Given the description of an element on the screen output the (x, y) to click on. 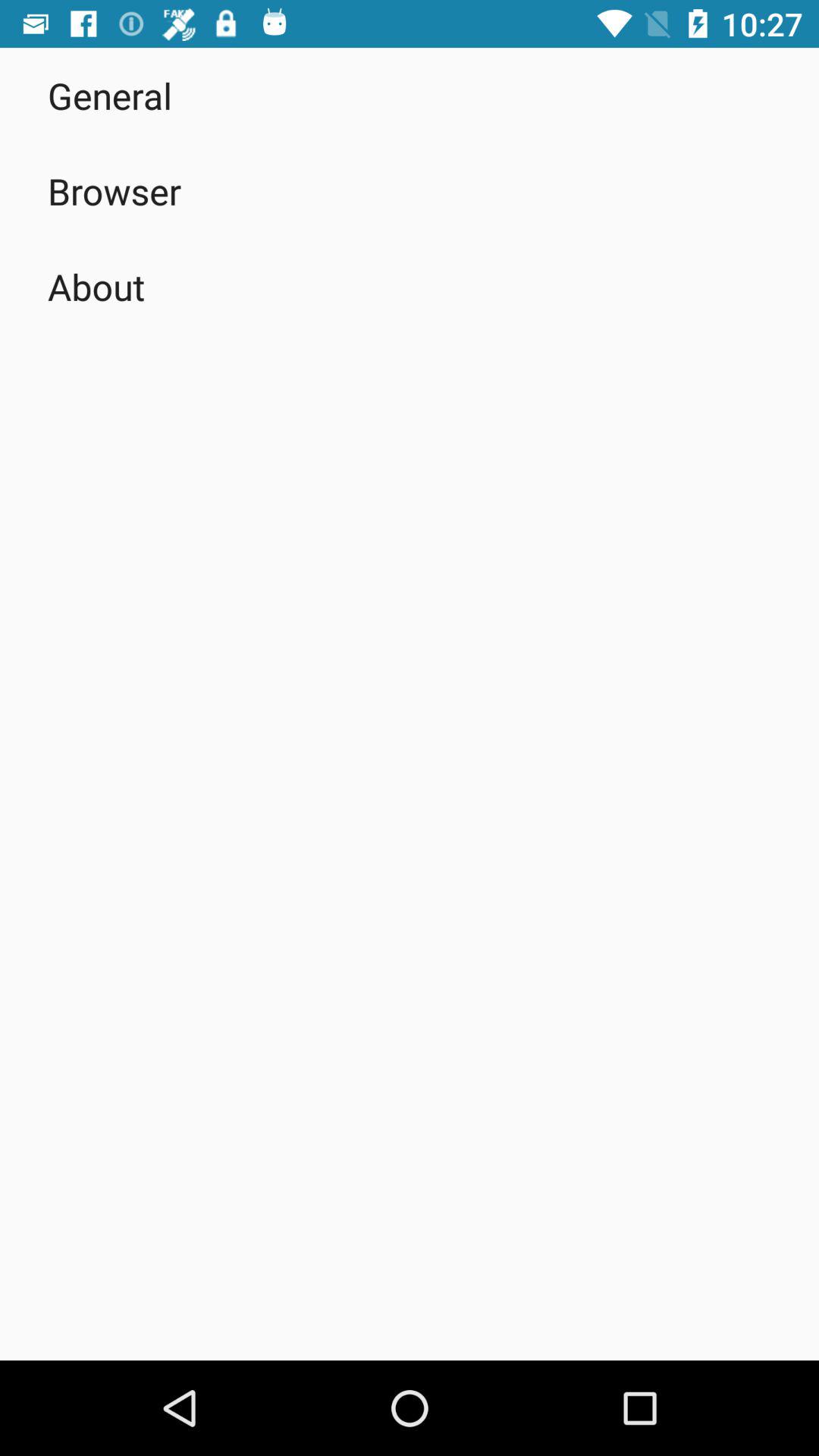
turn off the about app (96, 286)
